Given the description of an element on the screen output the (x, y) to click on. 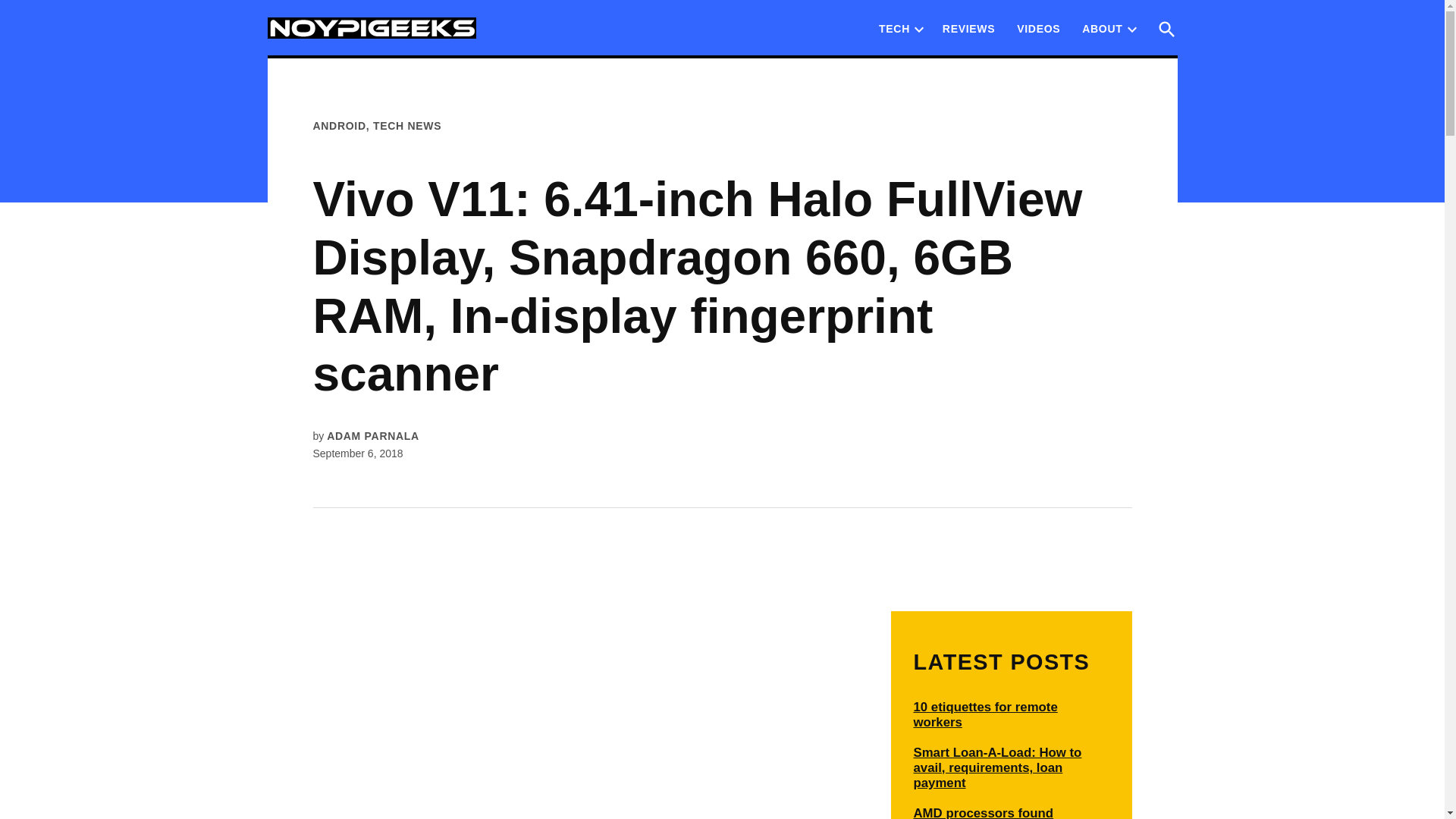
TECH (894, 28)
ABOUT (1098, 28)
VIDEOS (1038, 28)
NoypiGeeks YouTube Channel (1038, 28)
REVIEWS (968, 28)
NoypiGeeks (536, 39)
